Given the description of an element on the screen output the (x, y) to click on. 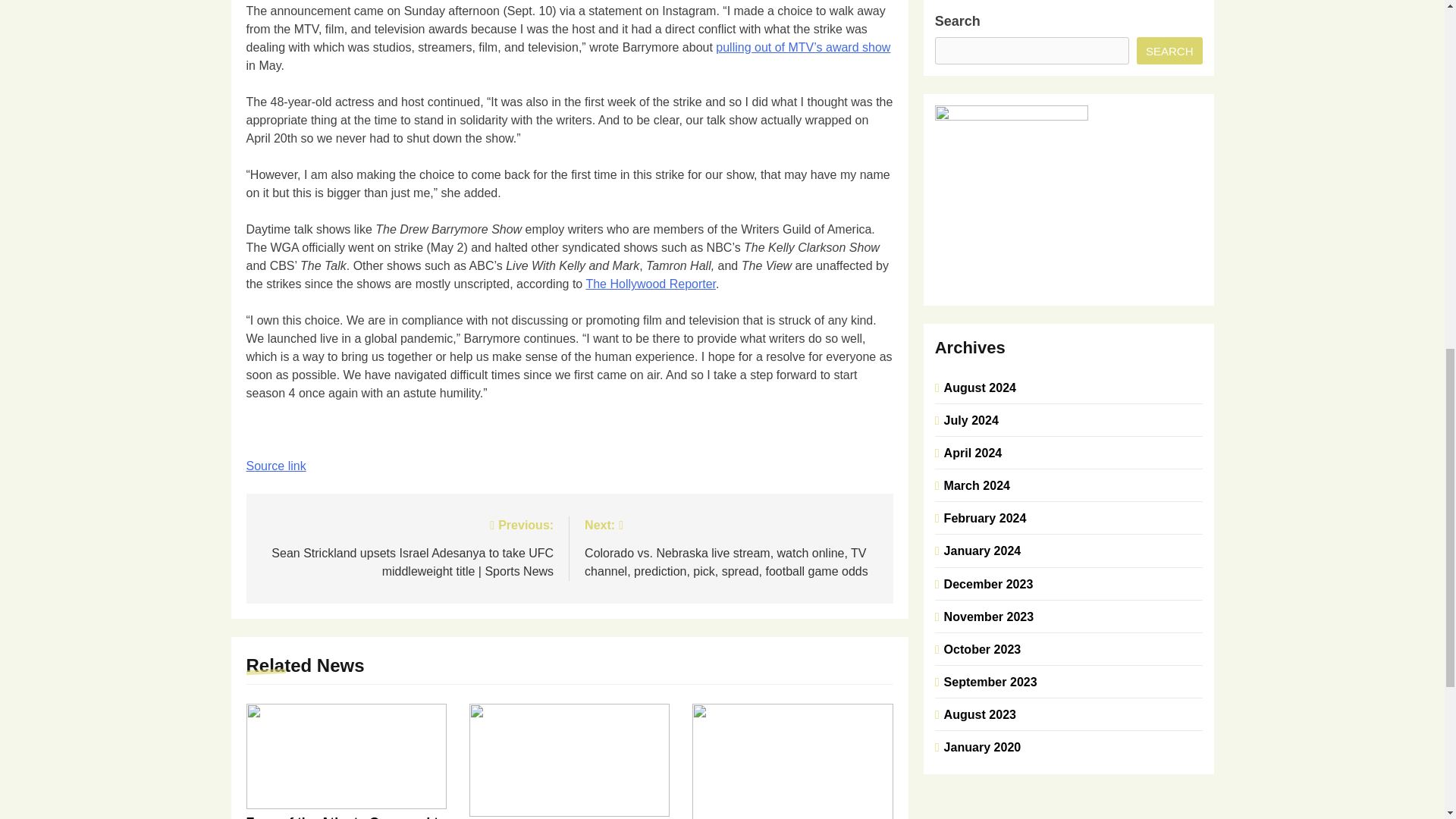
Source link (275, 465)
The Hollywood Reporter (650, 283)
Fans of the Atlanta Open sad to see it end after 14 years (345, 816)
